Given the description of an element on the screen output the (x, y) to click on. 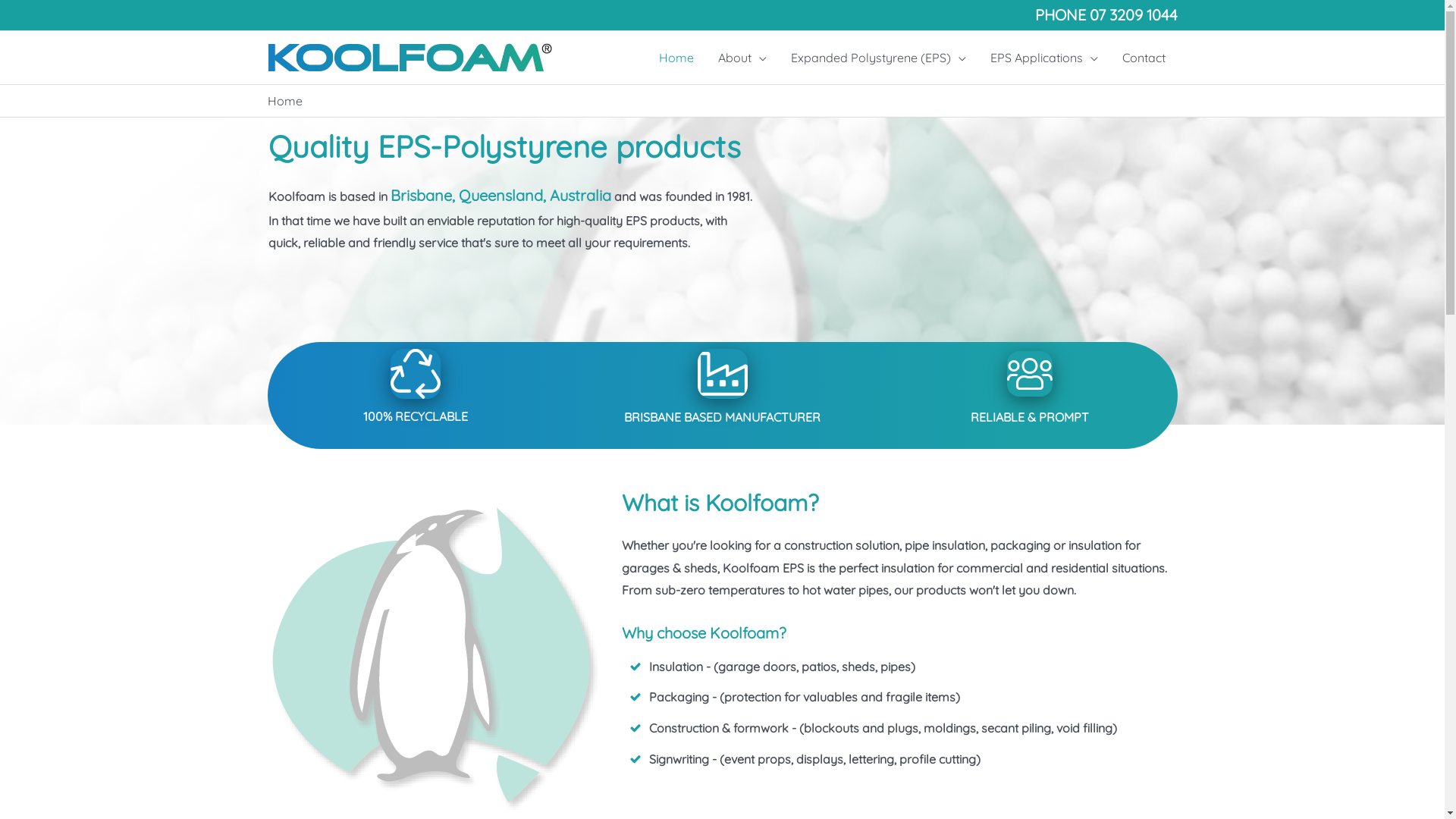
Expanded Polystyrene (EPS) Element type: text (877, 57)
About Element type: text (741, 57)
enlarged penguin Element type: hover (433, 658)
PHONE 07 3209 1044 Element type: text (1105, 14)
Home Element type: text (675, 57)
Contact Element type: text (1143, 57)
EPS Applications Element type: text (1044, 57)
